Given the description of an element on the screen output the (x, y) to click on. 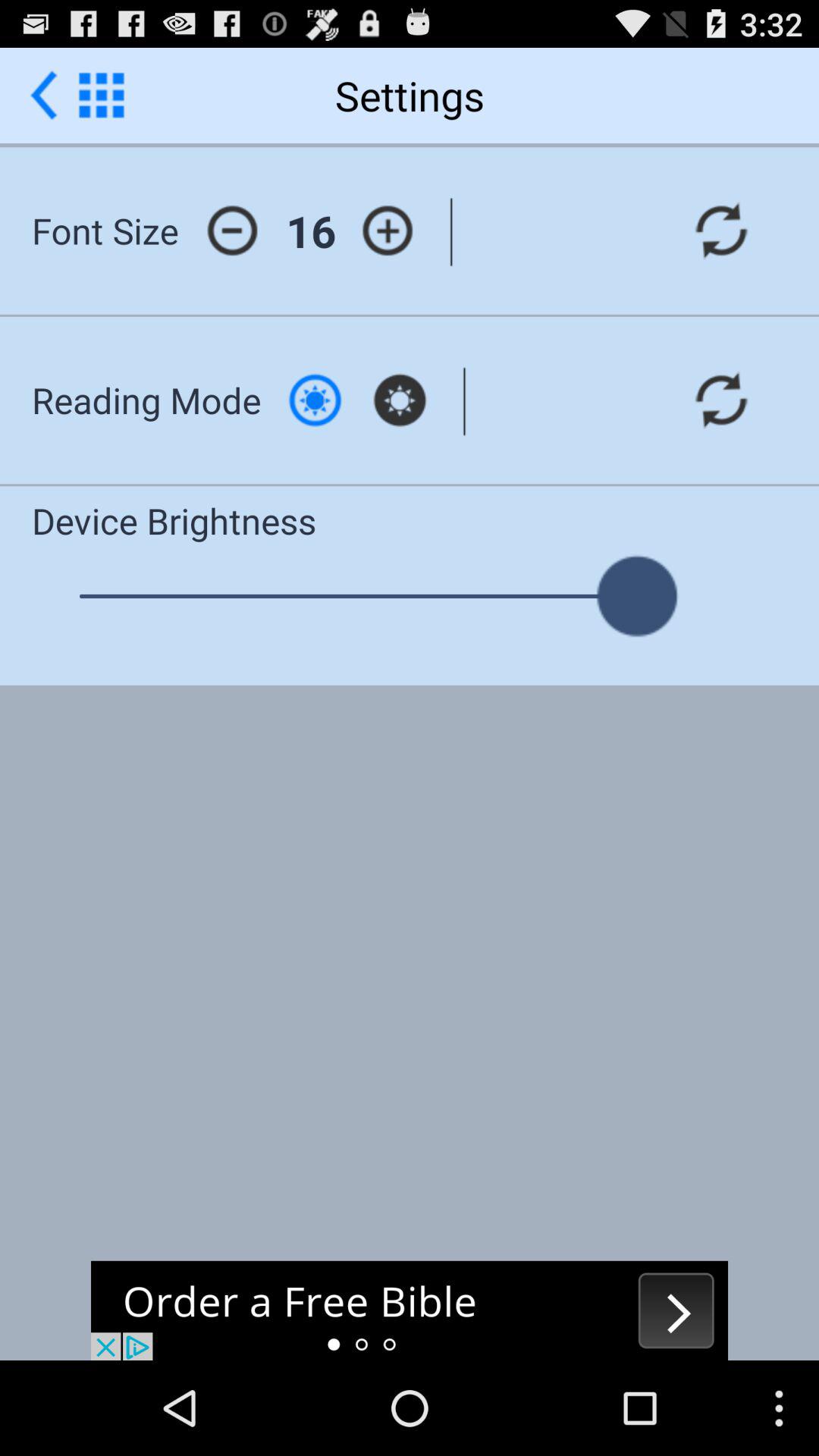
click button (315, 399)
